Given the description of an element on the screen output the (x, y) to click on. 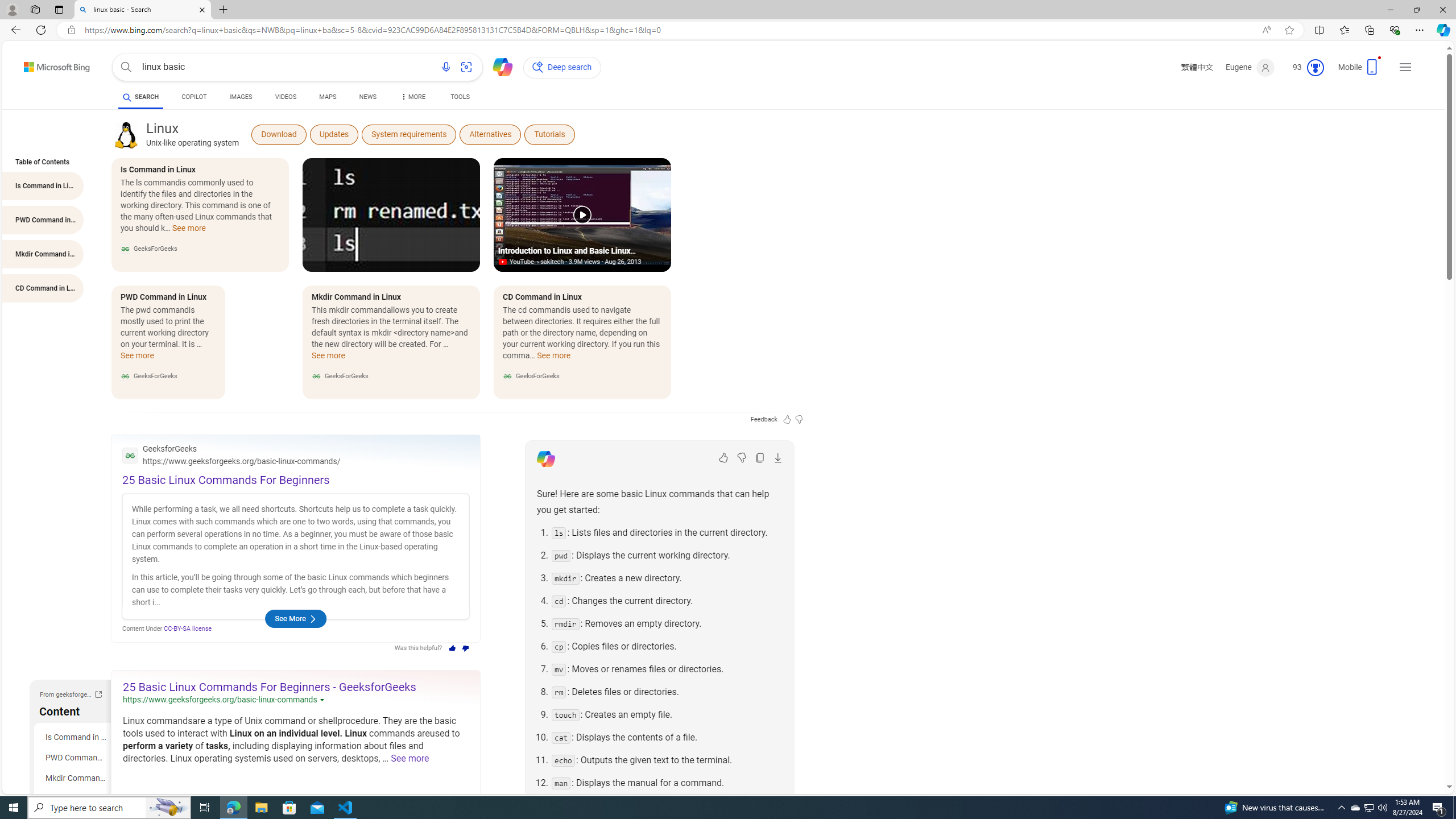
Actions for this site (323, 699)
TOOLS (460, 96)
CC-BY-SA license (187, 628)
Video source site (503, 261)
Chat (497, 65)
Thumbs up (451, 648)
Search using an image (465, 66)
Linux (126, 134)
Settings and quick links (1404, 67)
